Given the description of an element on the screen output the (x, y) to click on. 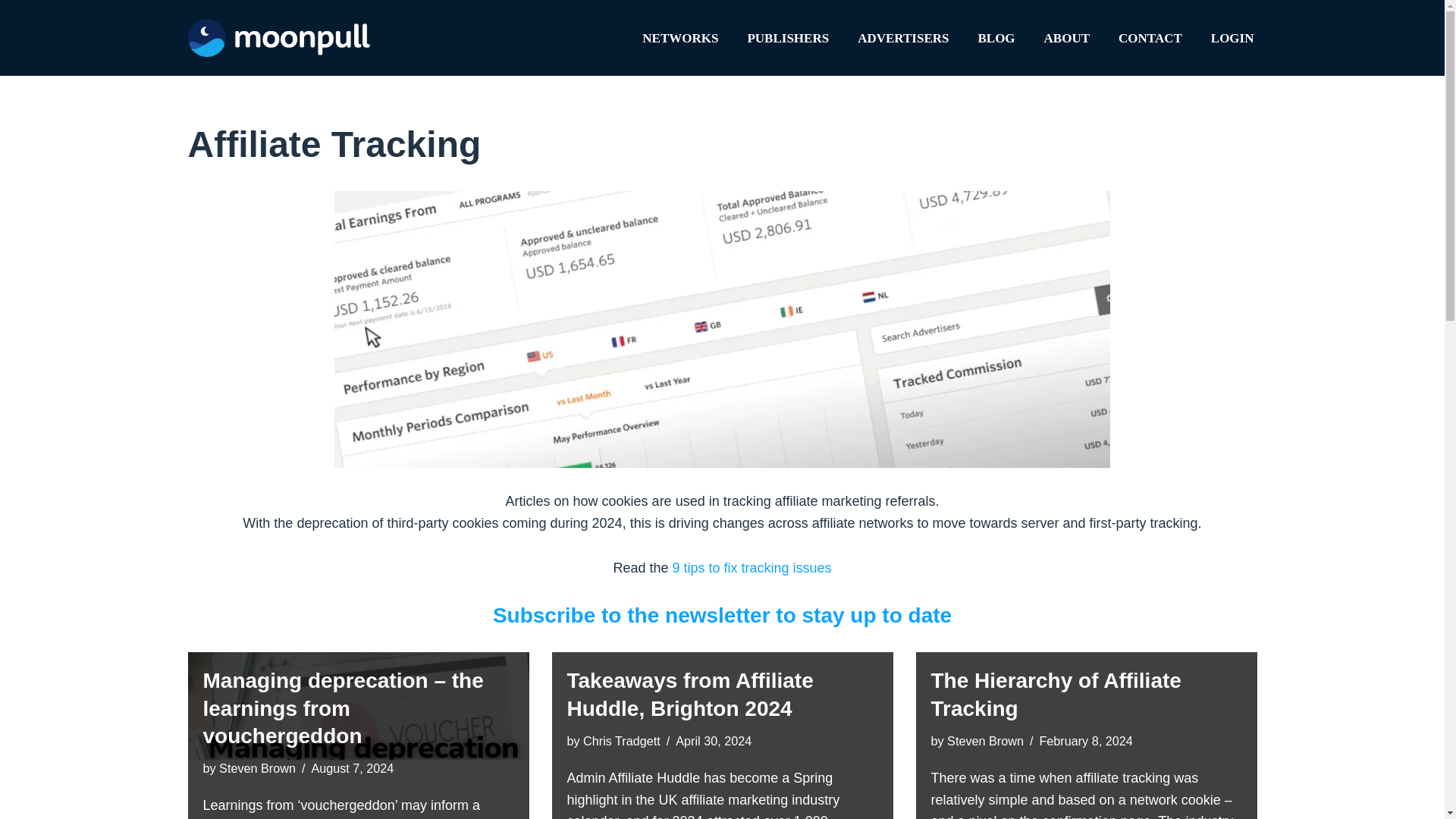
NETWORKS (679, 37)
Steven Brown (985, 740)
The Hierarchy of Affiliate Tracking (1055, 694)
BLOG (995, 37)
Posts by Steven Brown (985, 740)
ABOUT (1066, 37)
Chris Tradgett (622, 740)
Posts by Chris Tradgett (622, 740)
Takeaways from Affiliate Huddle, Brighton 2024 (690, 694)
Steven Brown (257, 767)
